Given the description of an element on the screen output the (x, y) to click on. 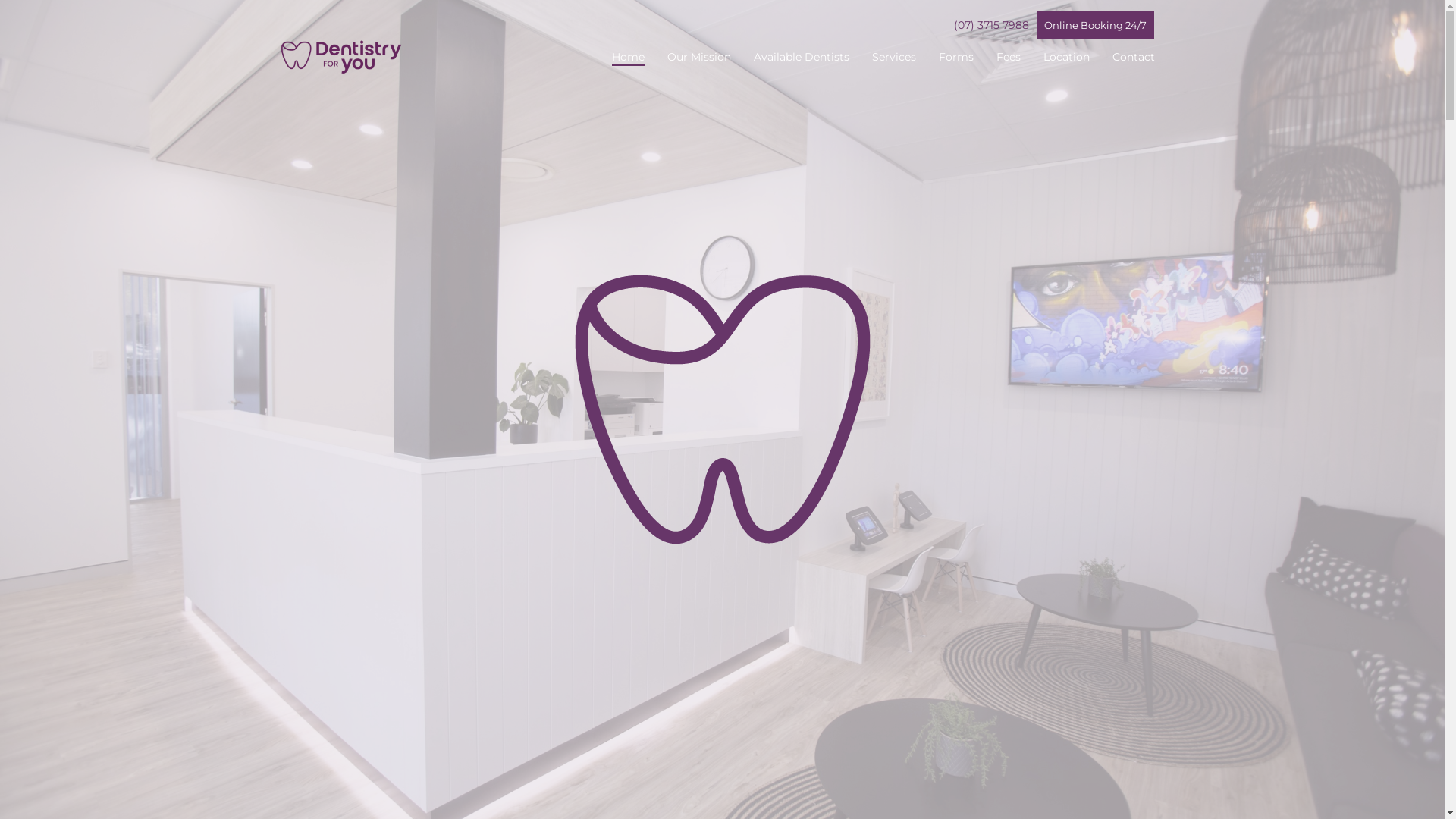
Fees Element type: text (1008, 57)
Forms Element type: text (955, 57)
Location Element type: text (1066, 57)
Online Booking 24/7 Element type: text (1094, 24)
Available Dentists Element type: text (801, 57)
(07) 3715 7988 Element type: text (991, 24)
Services Element type: text (894, 57)
Our Mission Element type: text (699, 57)
Home Element type: text (627, 57)
Contact Element type: text (1132, 57)
